Given the description of an element on the screen output the (x, y) to click on. 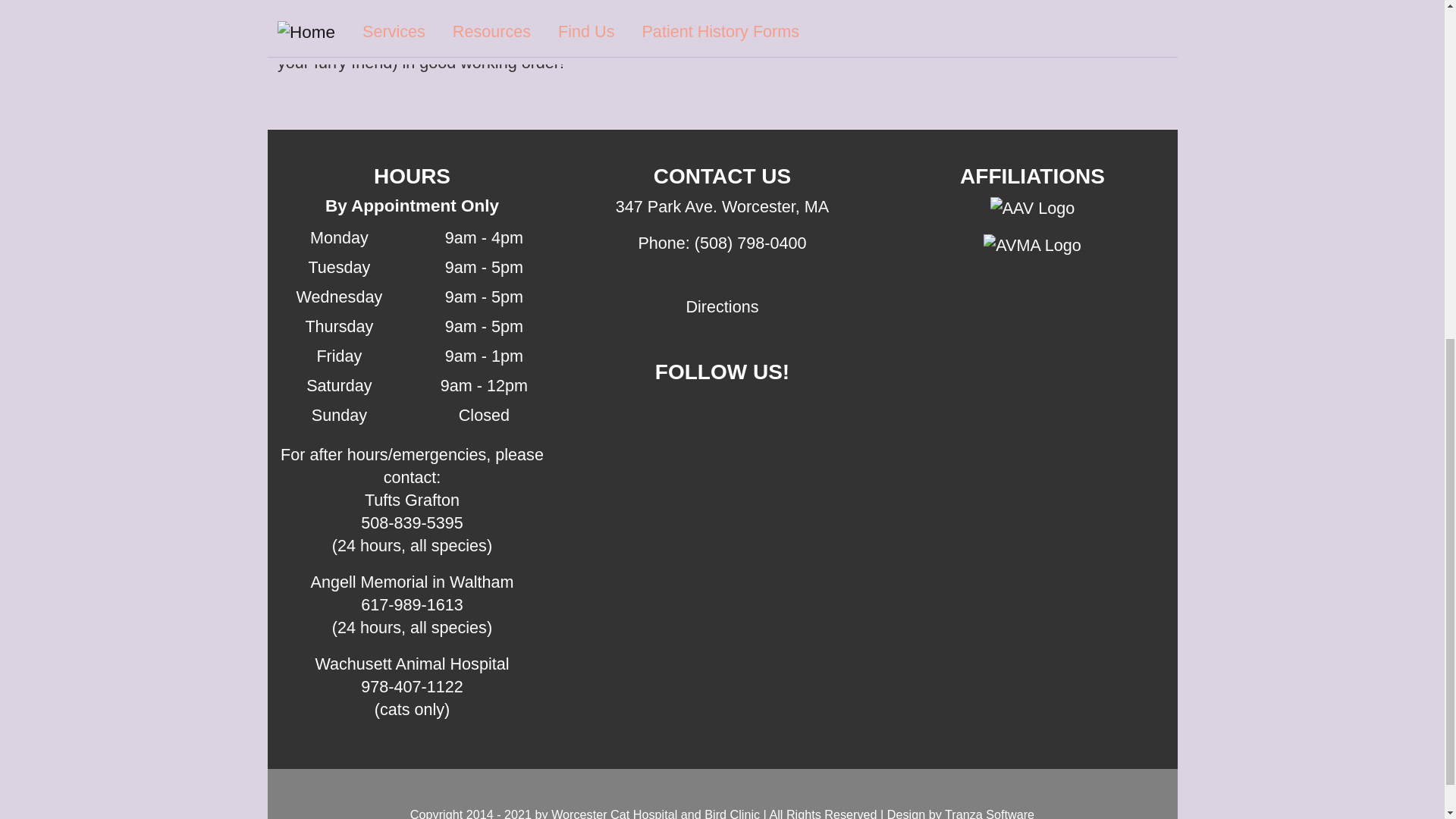
978-407-1122 (412, 686)
617-989-1613 (412, 604)
Directions (721, 306)
508-839-5395 (412, 522)
